Given the description of an element on the screen output the (x, y) to click on. 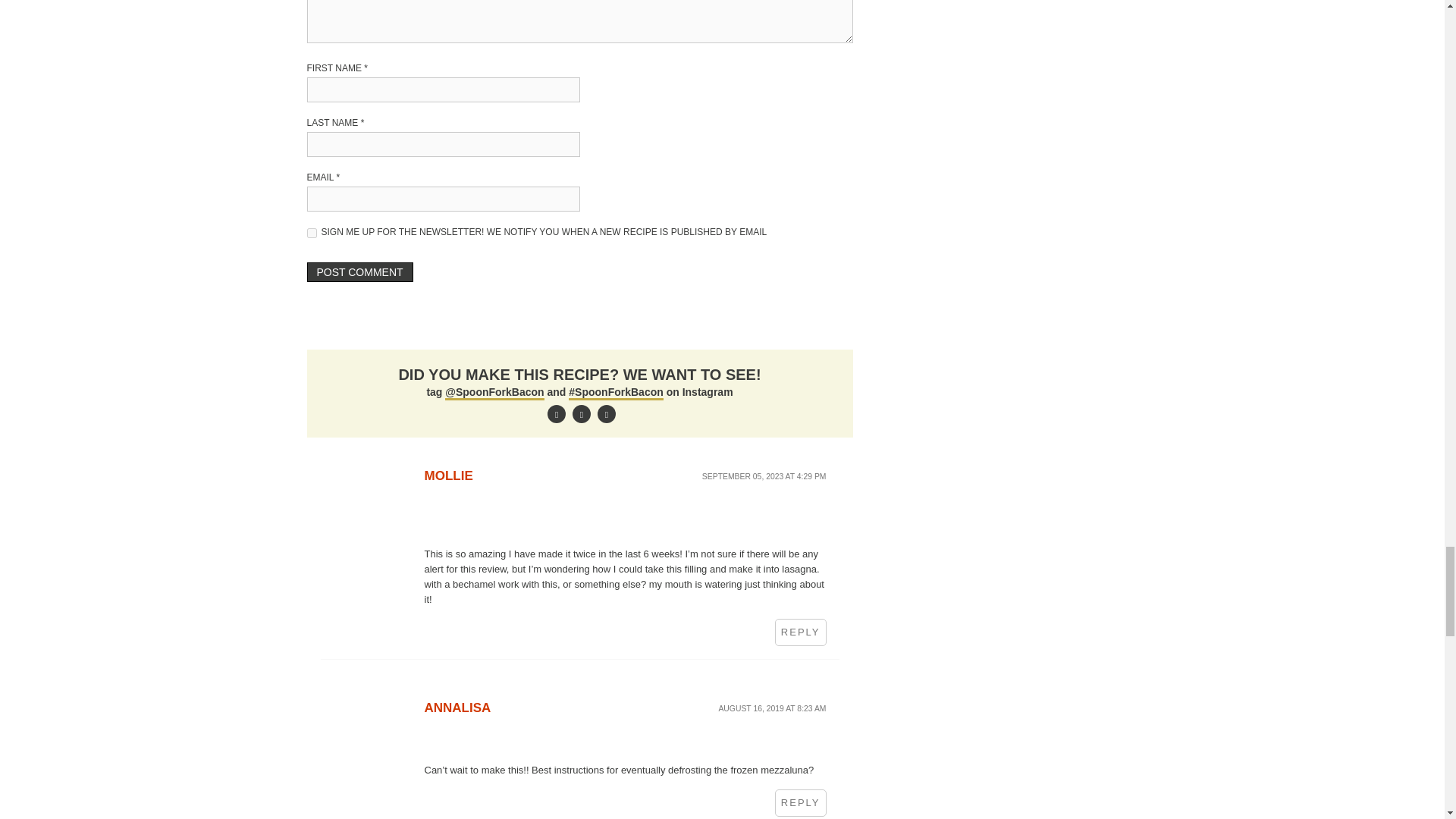
1 (310, 233)
Post Comment (358, 271)
